Given the description of an element on the screen output the (x, y) to click on. 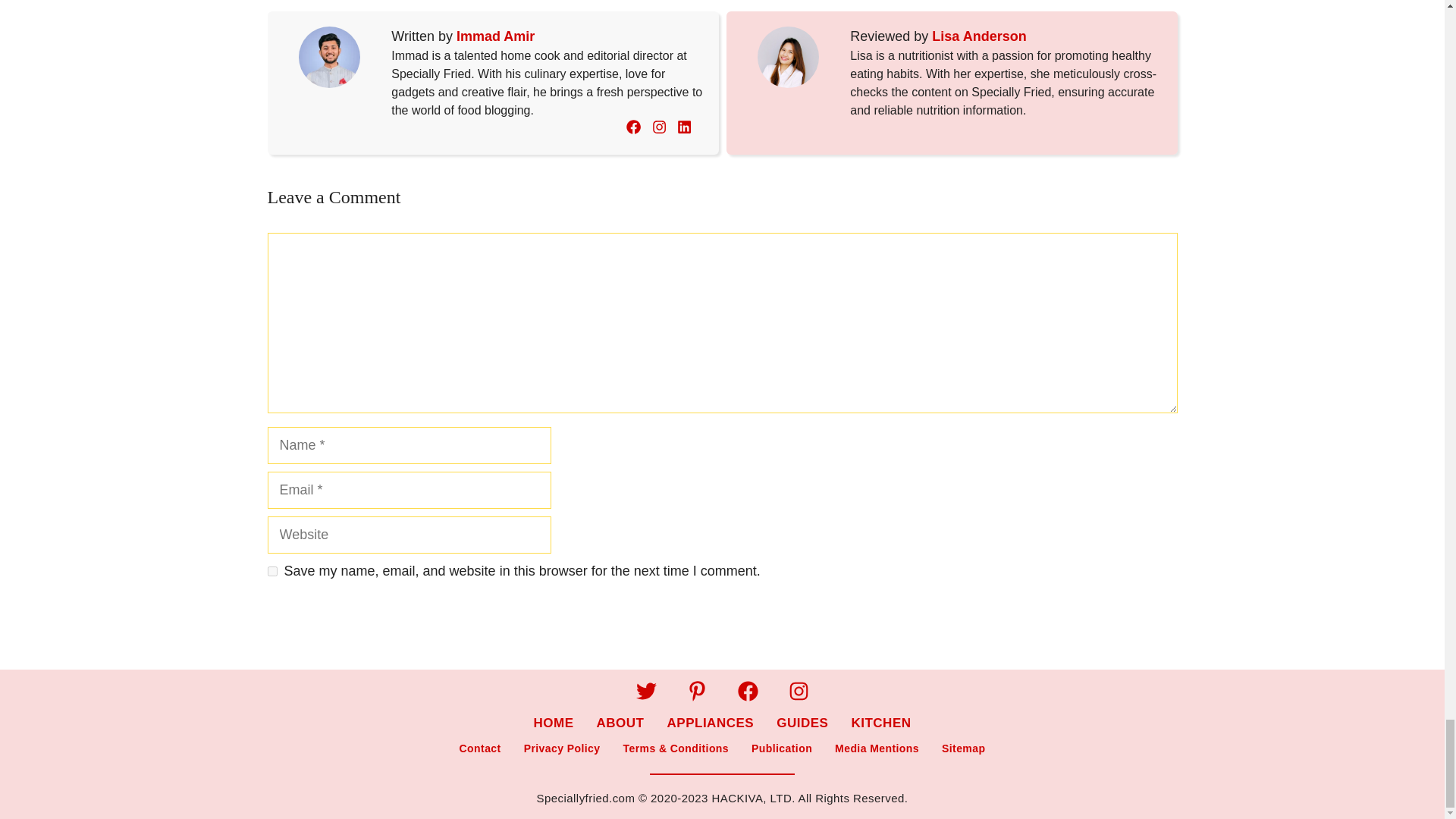
Immad Amir (495, 36)
Post Comment (327, 620)
yes (271, 571)
